Given the description of an element on the screen output the (x, y) to click on. 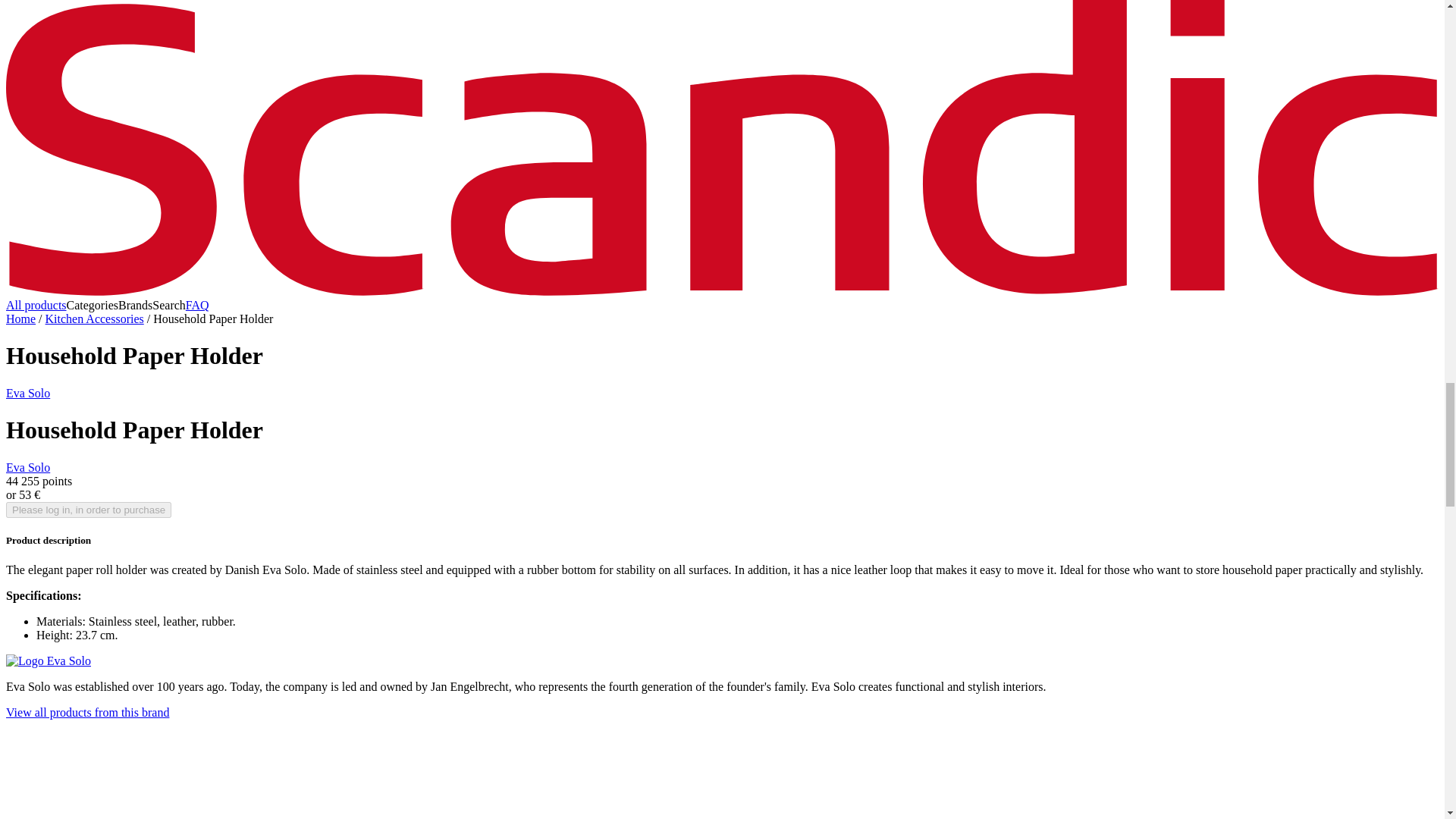
FAQ (197, 305)
Home (19, 318)
Please log in, in order to purchase (88, 509)
Eva Solo (27, 392)
Kitchen Accessories (94, 318)
View all products from this brand (86, 712)
Eva Solo (27, 467)
All products (35, 305)
